Given the description of an element on the screen output the (x, y) to click on. 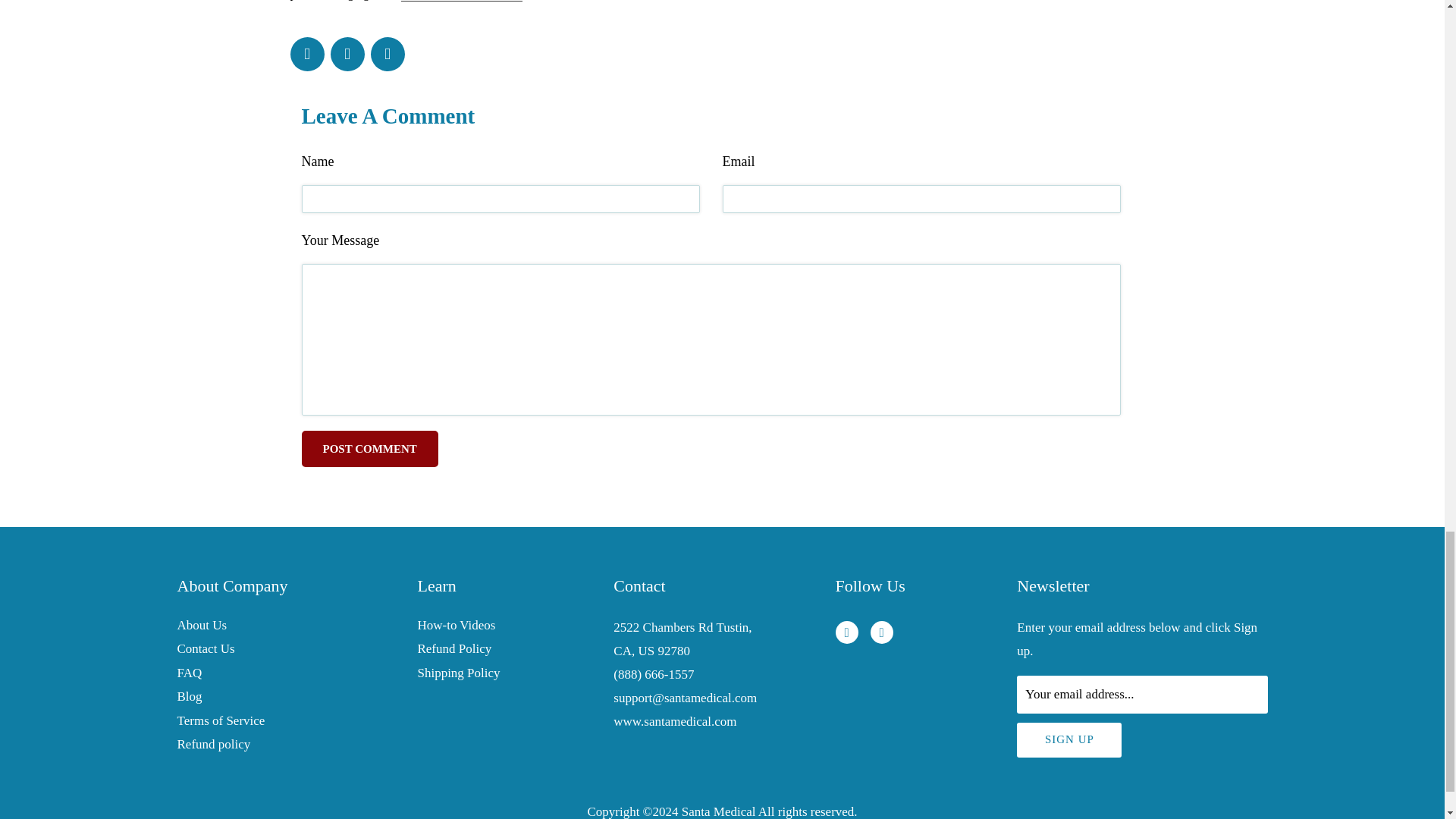
Post comment (369, 448)
